Given the description of an element on the screen output the (x, y) to click on. 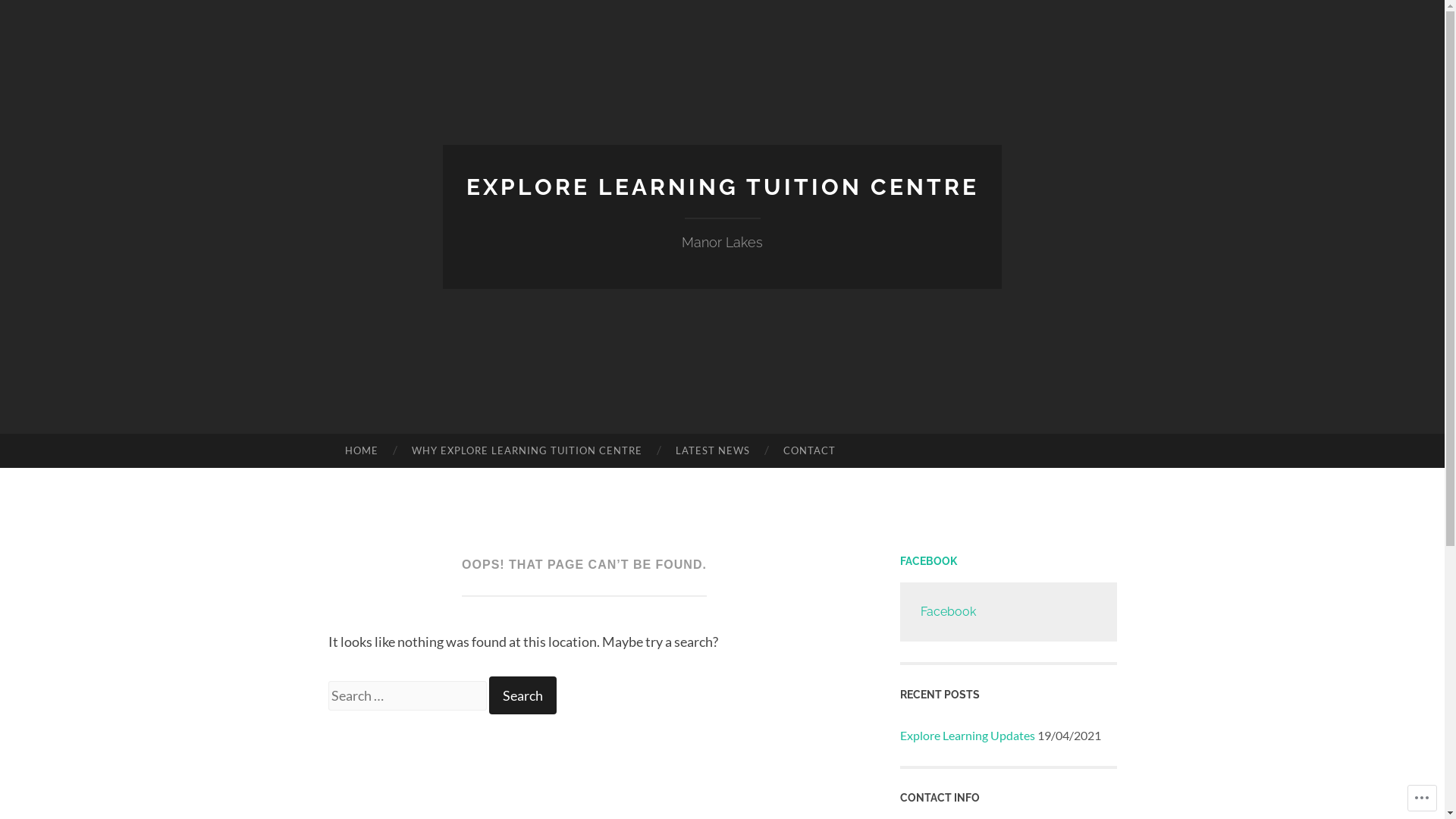
CONTACT Element type: text (809, 450)
WHY EXPLORE LEARNING TUITION CENTRE Element type: text (526, 450)
Search Element type: text (521, 695)
LATEST NEWS Element type: text (712, 450)
Explore Learning Updates Element type: text (966, 735)
FACEBOOK Element type: text (927, 561)
HOME Element type: text (360, 450)
Facebook Element type: text (947, 611)
EXPLORE LEARNING TUITION CENTRE Element type: text (721, 186)
